Given the description of an element on the screen output the (x, y) to click on. 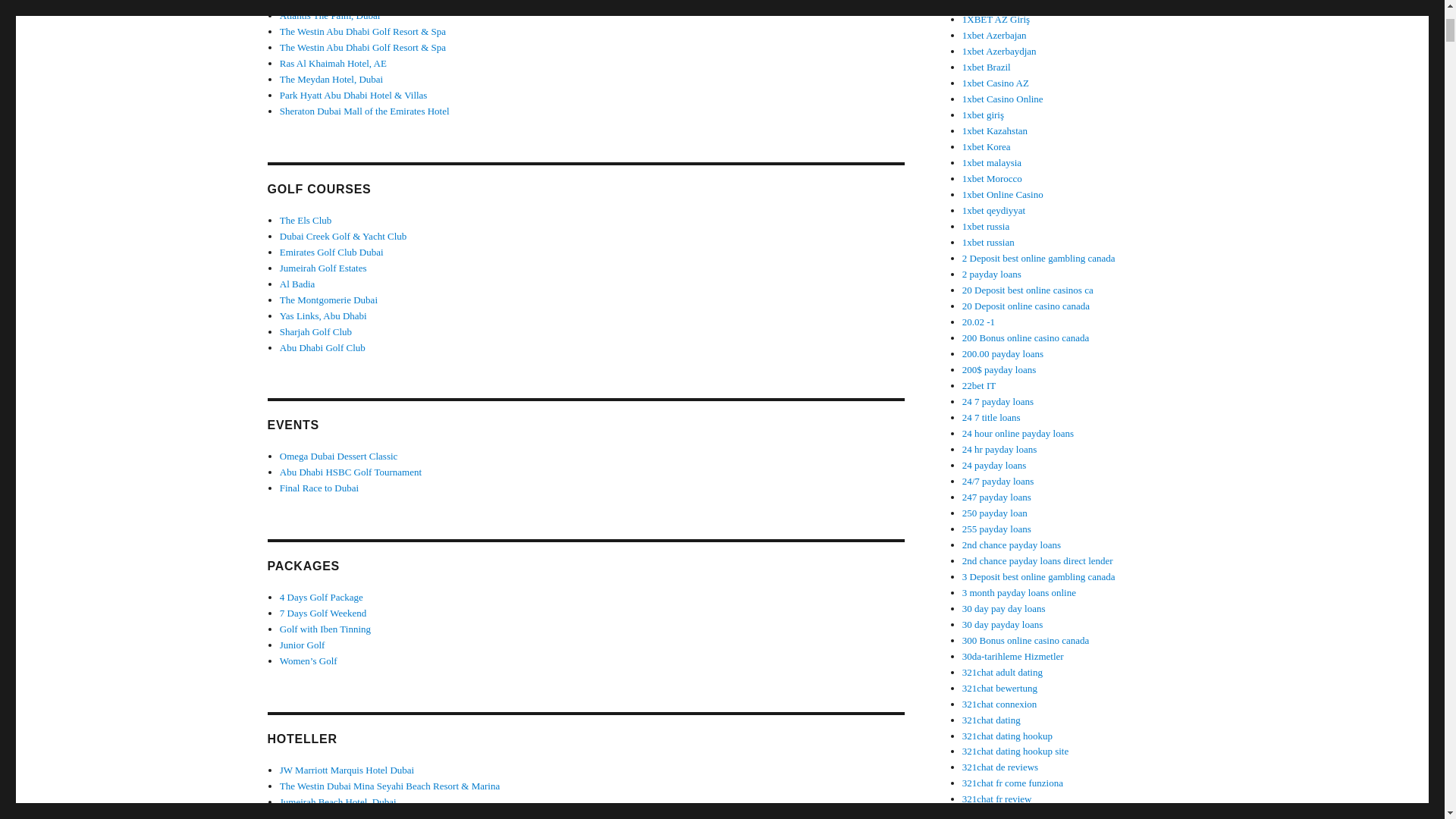
Abu Dhabi Golf Club (322, 346)
Yas Links, Abu Dhabi (322, 315)
Final Race to Dubai (318, 487)
Emirates Golf Club Dubai (331, 251)
JW Marriott Marquis Hotel Dubai (346, 769)
Golf with Iben Tinning (325, 628)
Sheraton Dubai Mall of the Emirates Hotel (364, 111)
Atlantis The Palm, Dubai (329, 815)
Al Badia (297, 283)
Junior Golf (301, 644)
